Given the description of an element on the screen output the (x, y) to click on. 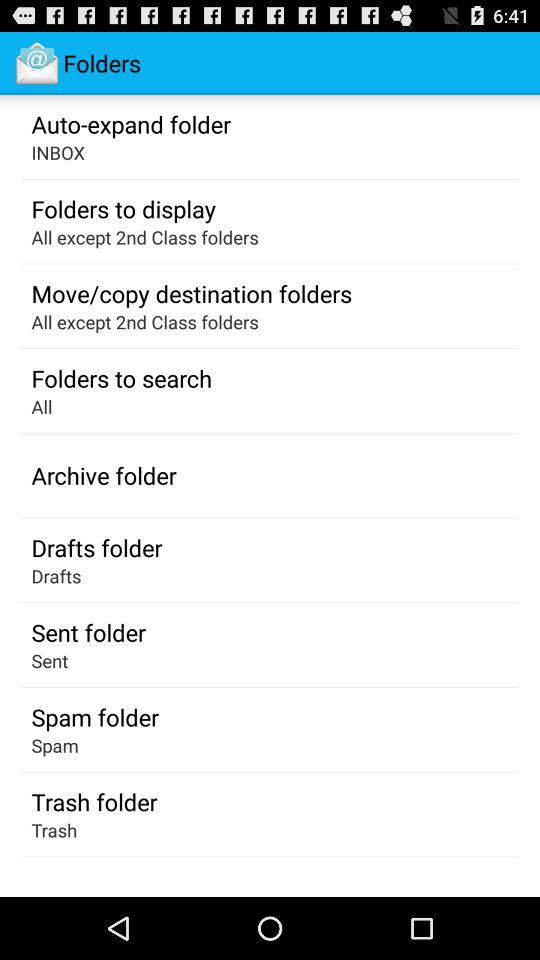
turn on sent folder icon (88, 632)
